Given the description of an element on the screen output the (x, y) to click on. 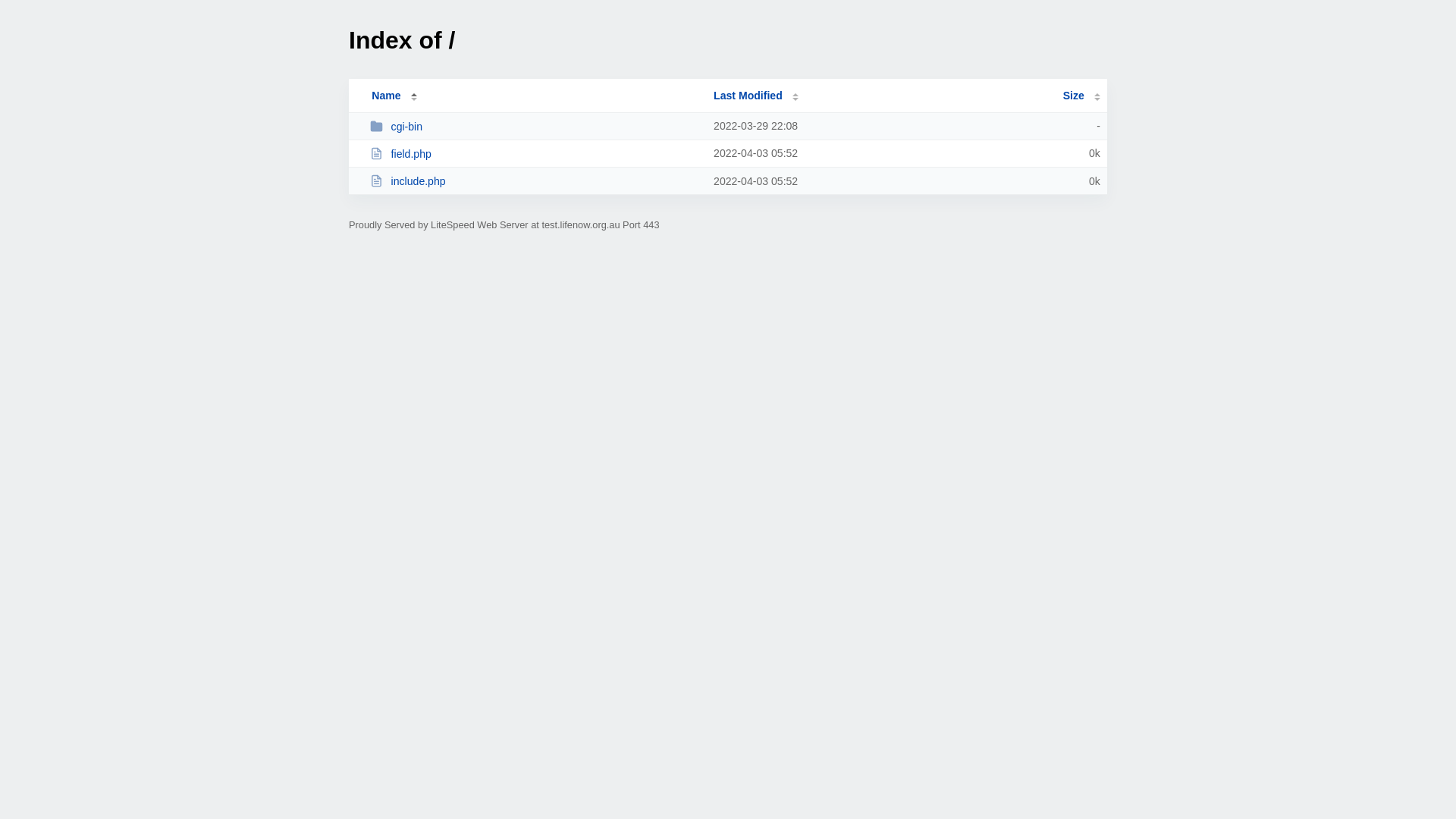
Name Element type: text (385, 95)
Last Modified Element type: text (755, 95)
cgi-bin Element type: text (534, 125)
include.php Element type: text (534, 180)
Size Element type: text (1081, 95)
field.php Element type: text (534, 153)
